Given the description of an element on the screen output the (x, y) to click on. 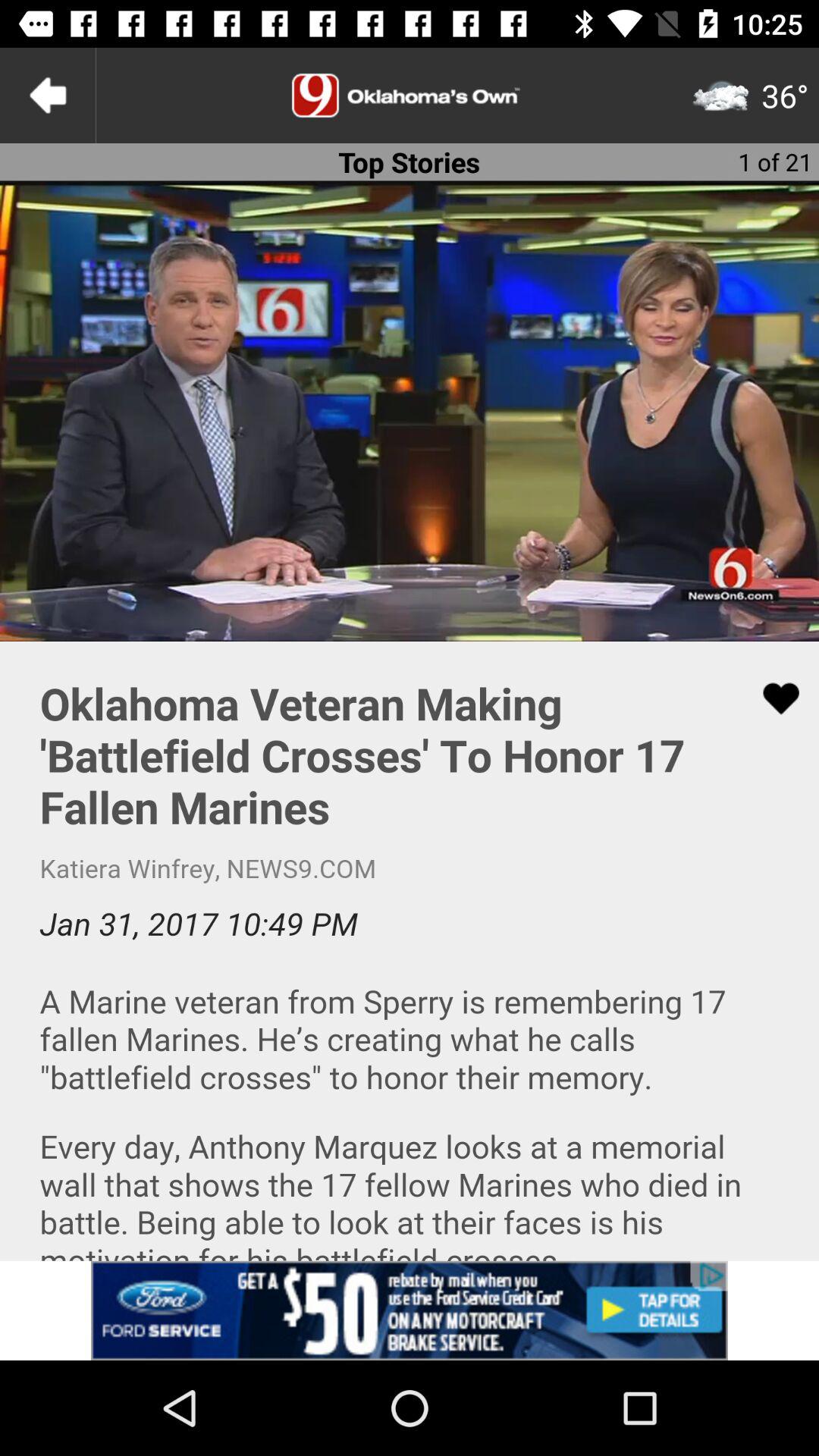
advertisement (409, 95)
